Given the description of an element on the screen output the (x, y) to click on. 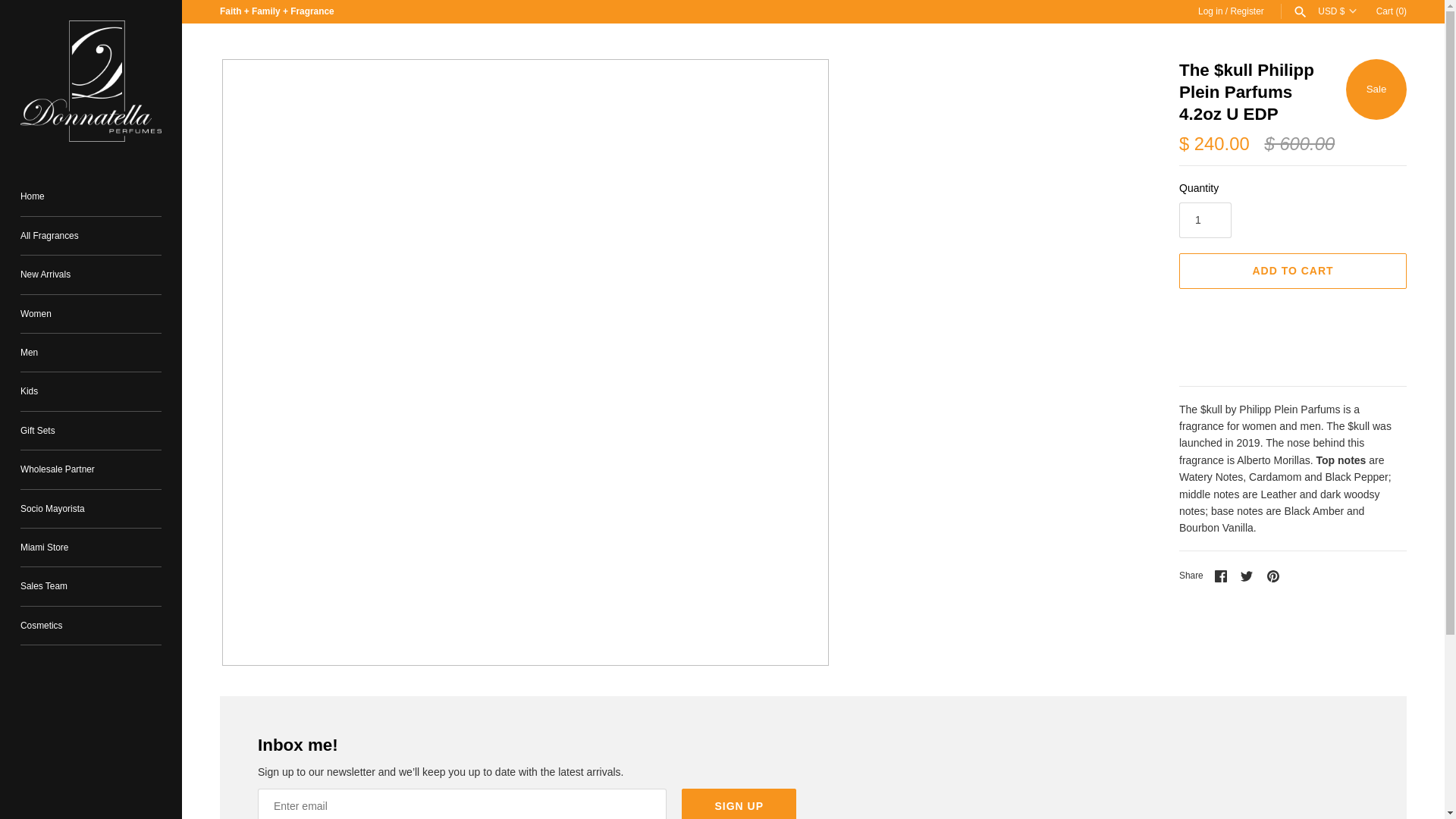
New Arrivals (90, 274)
Gift Sets (90, 430)
1 (1205, 220)
All Fragrances (90, 236)
Cosmetics (90, 625)
Wholesale Partner (90, 469)
Facebook (1220, 576)
Miami Store (90, 547)
Log in (1210, 10)
Kids (90, 391)
Register (1246, 10)
Home (90, 196)
Pinterest (1272, 576)
Donnatella Perfumes (91, 80)
Women (90, 313)
